Given the description of an element on the screen output the (x, y) to click on. 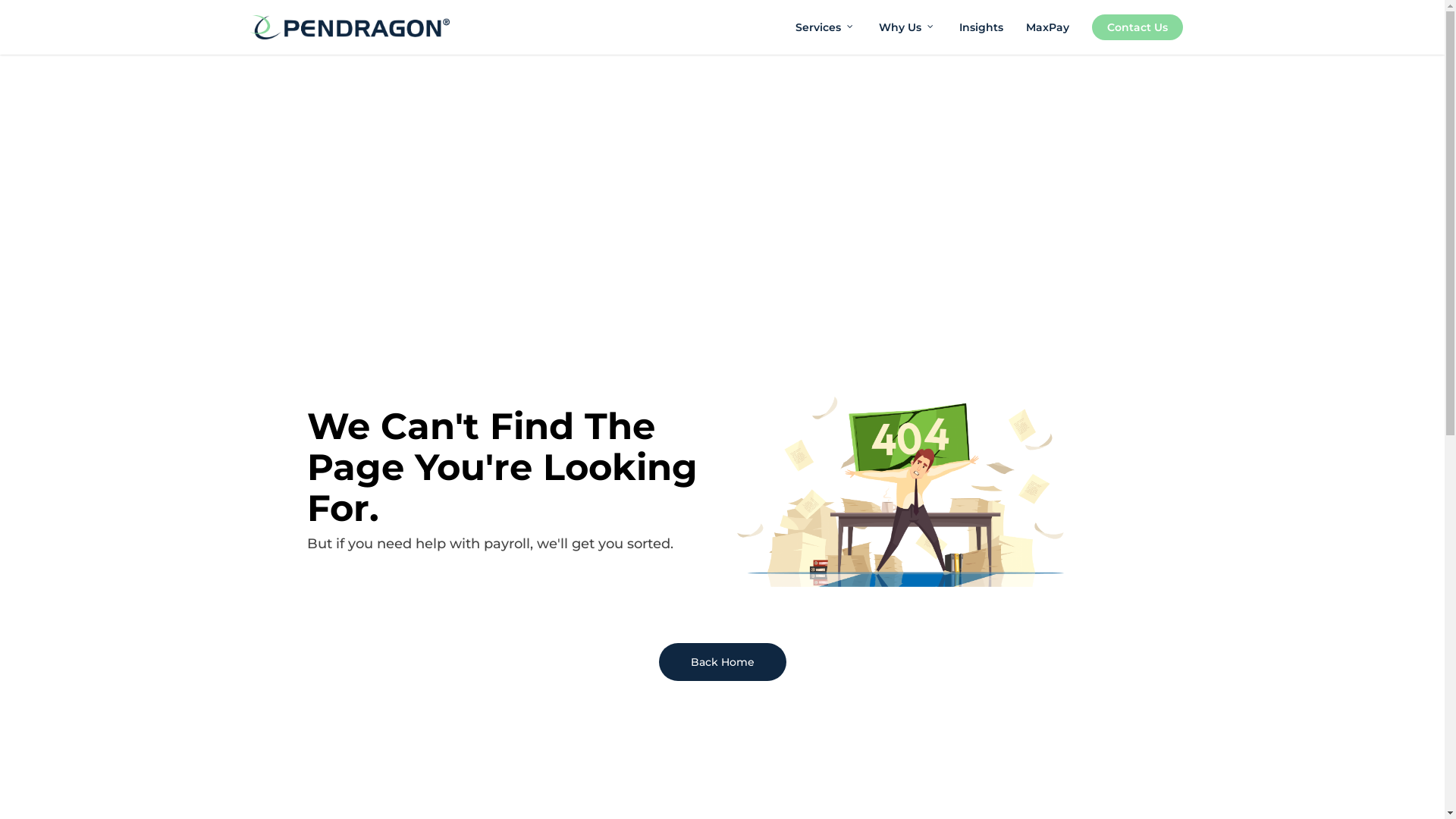
Contact Us Element type: text (1137, 26)
Services Element type: text (825, 26)
MaxPay Element type: text (1047, 26)
Why Us Element type: text (907, 26)
Back Home Element type: text (721, 661)
Insights Element type: text (980, 26)
